Given the description of an element on the screen output the (x, y) to click on. 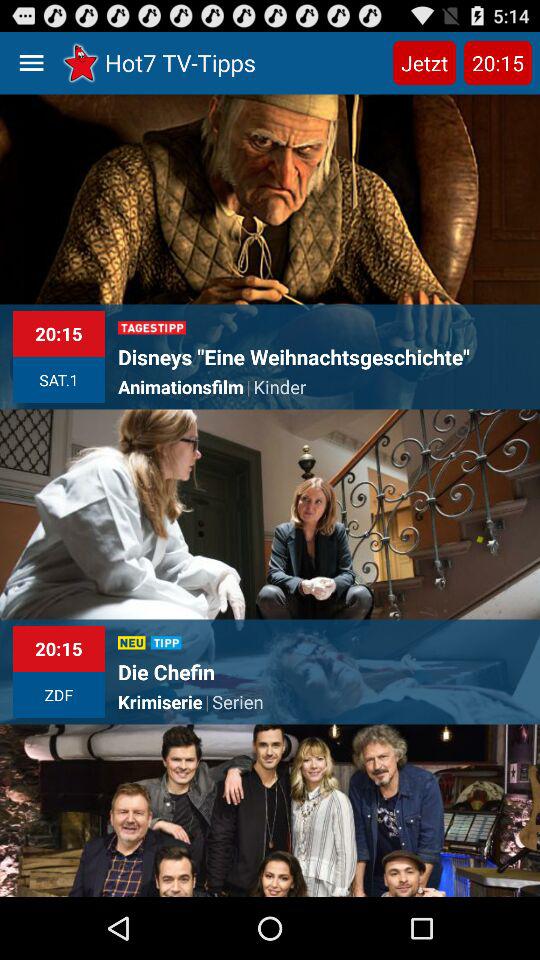
turn off app next to hot7 tv-tipps (424, 62)
